Given the description of an element on the screen output the (x, y) to click on. 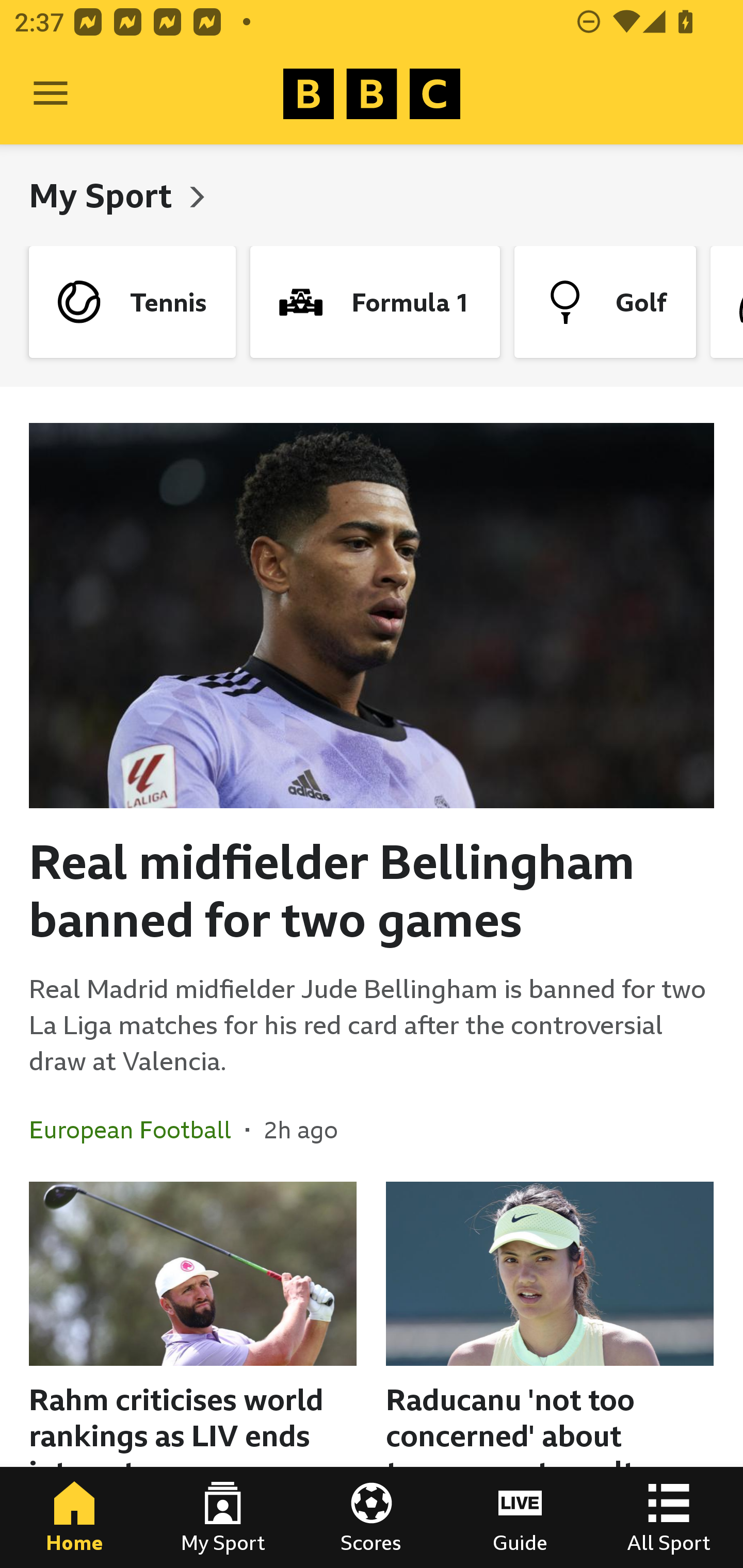
Open Menu (50, 93)
My Sport (104, 195)
European Football In the section European Football (136, 1129)
My Sport (222, 1517)
Scores (371, 1517)
Guide (519, 1517)
All Sport (668, 1517)
